Given the description of an element on the screen output the (x, y) to click on. 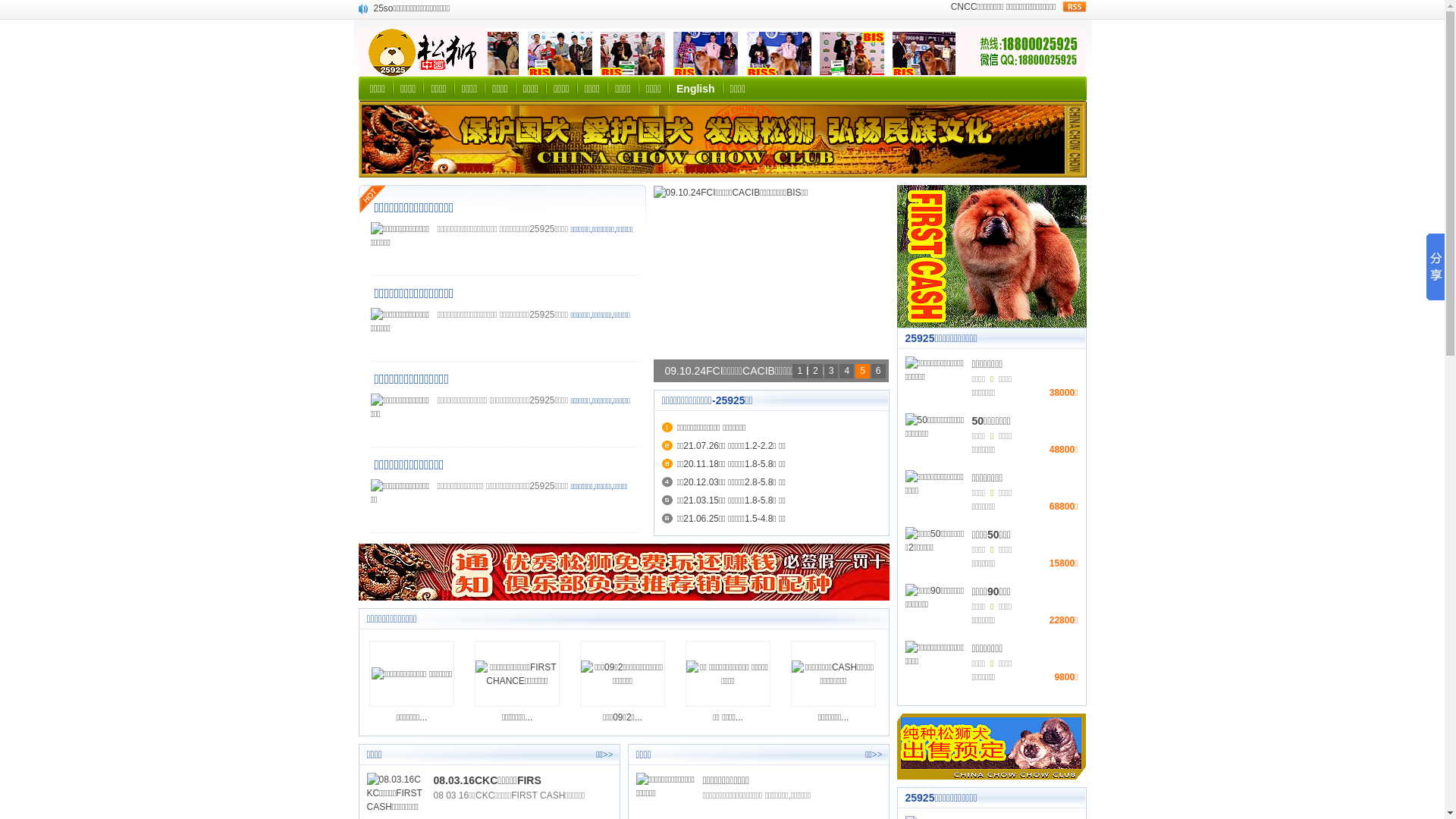
English Element type: text (695, 88)
rss Element type: text (1073, 6)
